Given the description of an element on the screen output the (x, y) to click on. 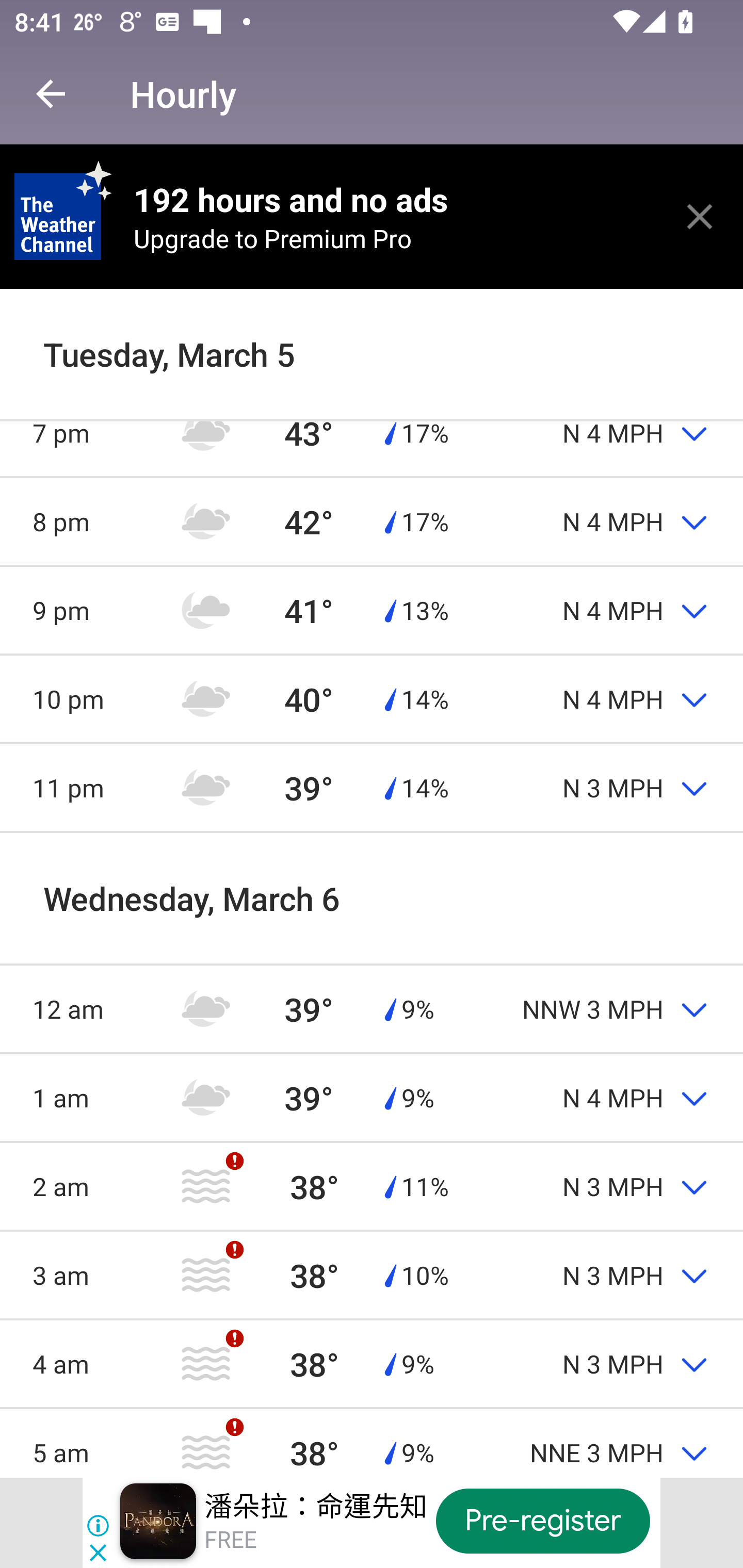
Navigate up (50, 93)
close this (699, 216)
6 pm 45° 16% N 5 MPH (371, 344)
7 pm 43° 17% N 4 MPH (371, 432)
8 pm 42° 17% N 4 MPH (371, 521)
9 pm 41° 13% N 4 MPH (371, 610)
10 pm 40° 14% N 4 MPH (371, 698)
11 pm 39° 14% N 3 MPH (371, 787)
12 am 39° 9% NNW 3 MPH (371, 1008)
1 am 39° 9% N 4 MPH (371, 1097)
2 am 38° 11% N 3 MPH (371, 1186)
3 am 38° 10% N 3 MPH (371, 1275)
4 am 38° 9% N 3 MPH (371, 1363)
5 am 38° 9% NNE 3 MPH (371, 1443)
潘朵拉：命運先知 (316, 1506)
Pre-register (542, 1520)
FREE (230, 1540)
